Given the description of an element on the screen output the (x, y) to click on. 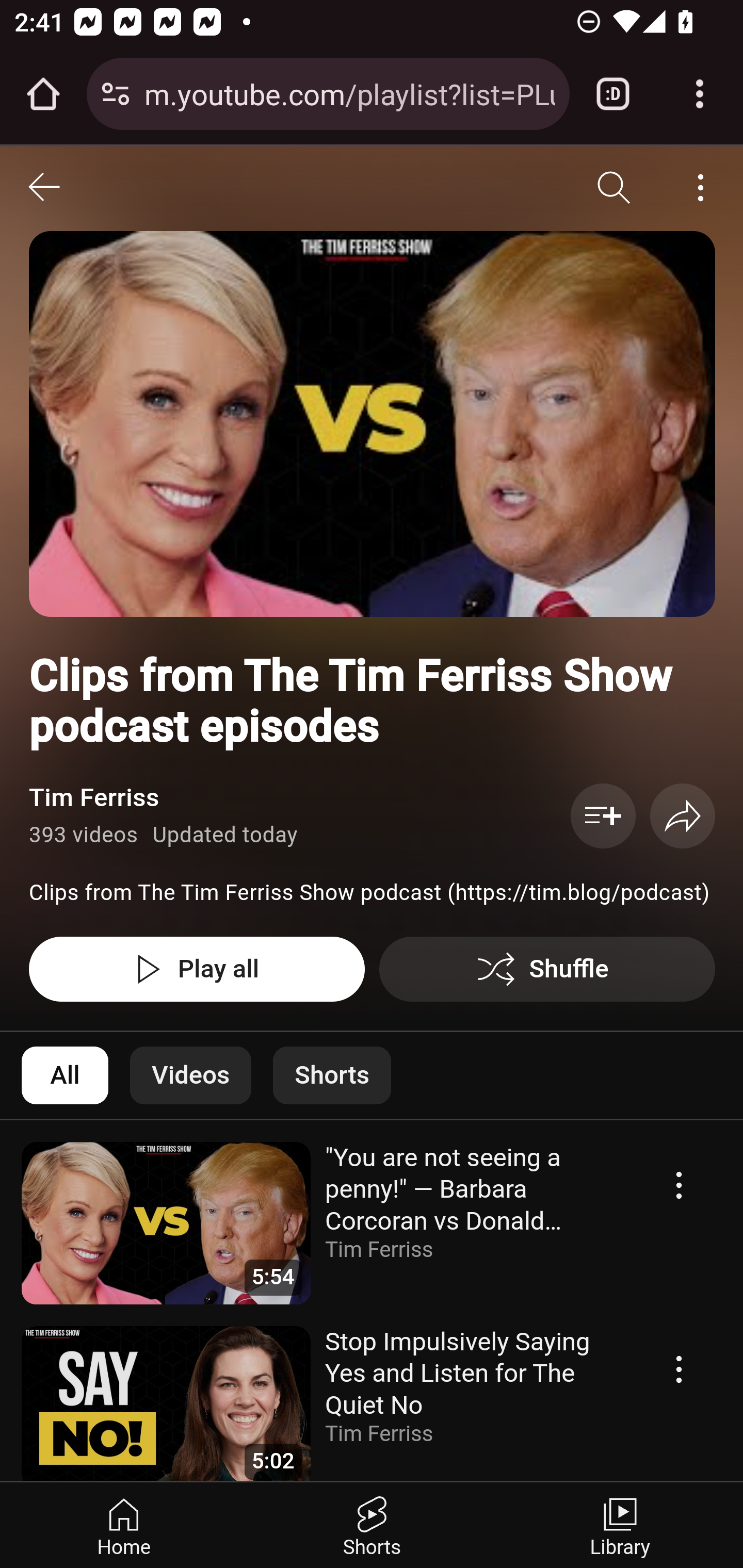
Open the home page (43, 93)
Connection is secure (115, 93)
Switch or close tabs (612, 93)
Customize and control Google Chrome (699, 93)
Back (44, 188)
Search YouTube (614, 188)
Account (700, 188)
Tim Ferriss (94, 796)
Save playlist (603, 814)
Share (683, 814)
Play all (197, 968)
Shuffle (547, 968)
All (65, 1074)
Videos (191, 1074)
Shorts (331, 1074)
Action menu (679, 1185)
Action menu (679, 1368)
Home (124, 1524)
Shorts (371, 1524)
Library (618, 1524)
